Given the description of an element on the screen output the (x, y) to click on. 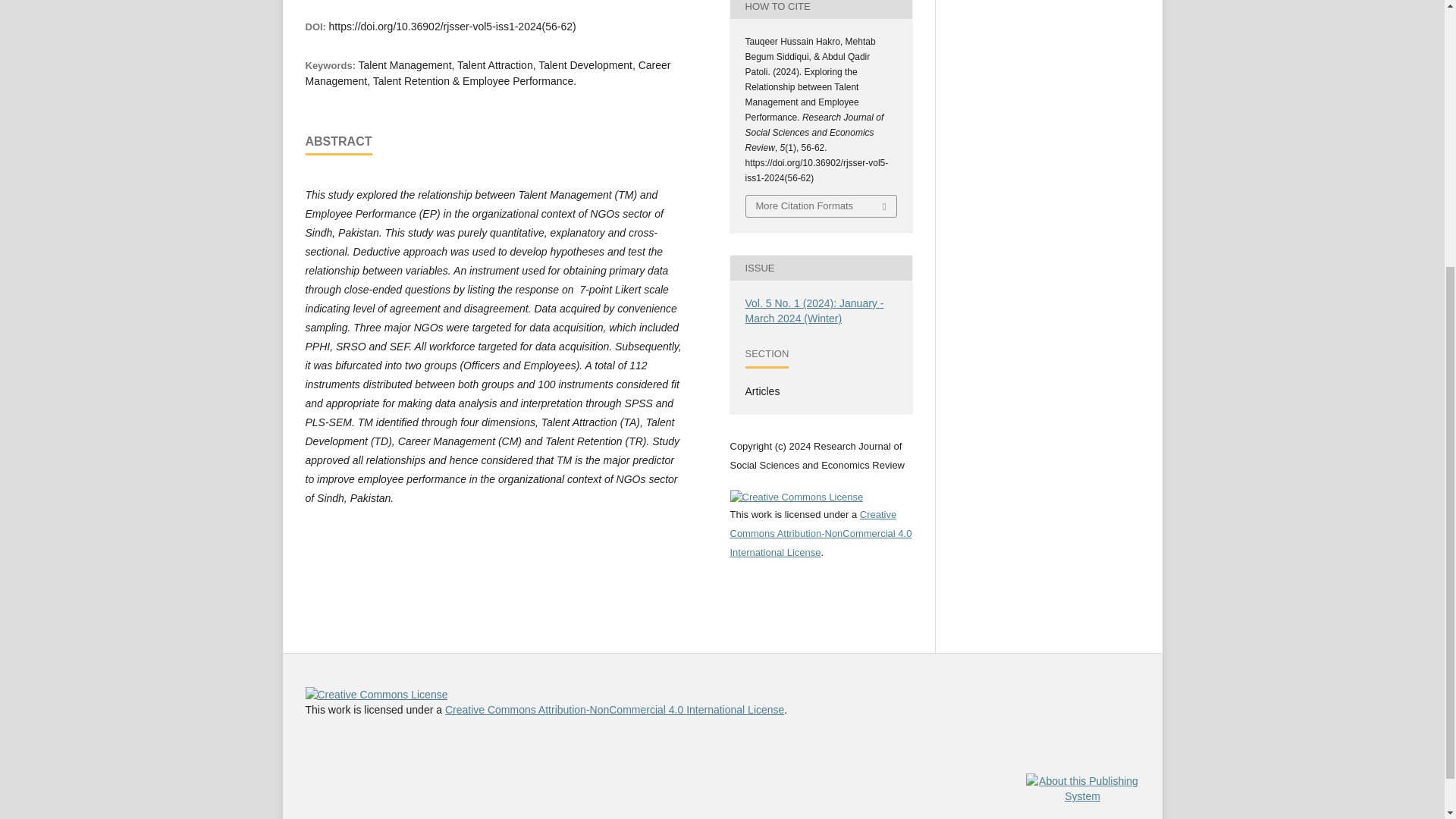
More Citation Formats (820, 206)
